Given the description of an element on the screen output the (x, y) to click on. 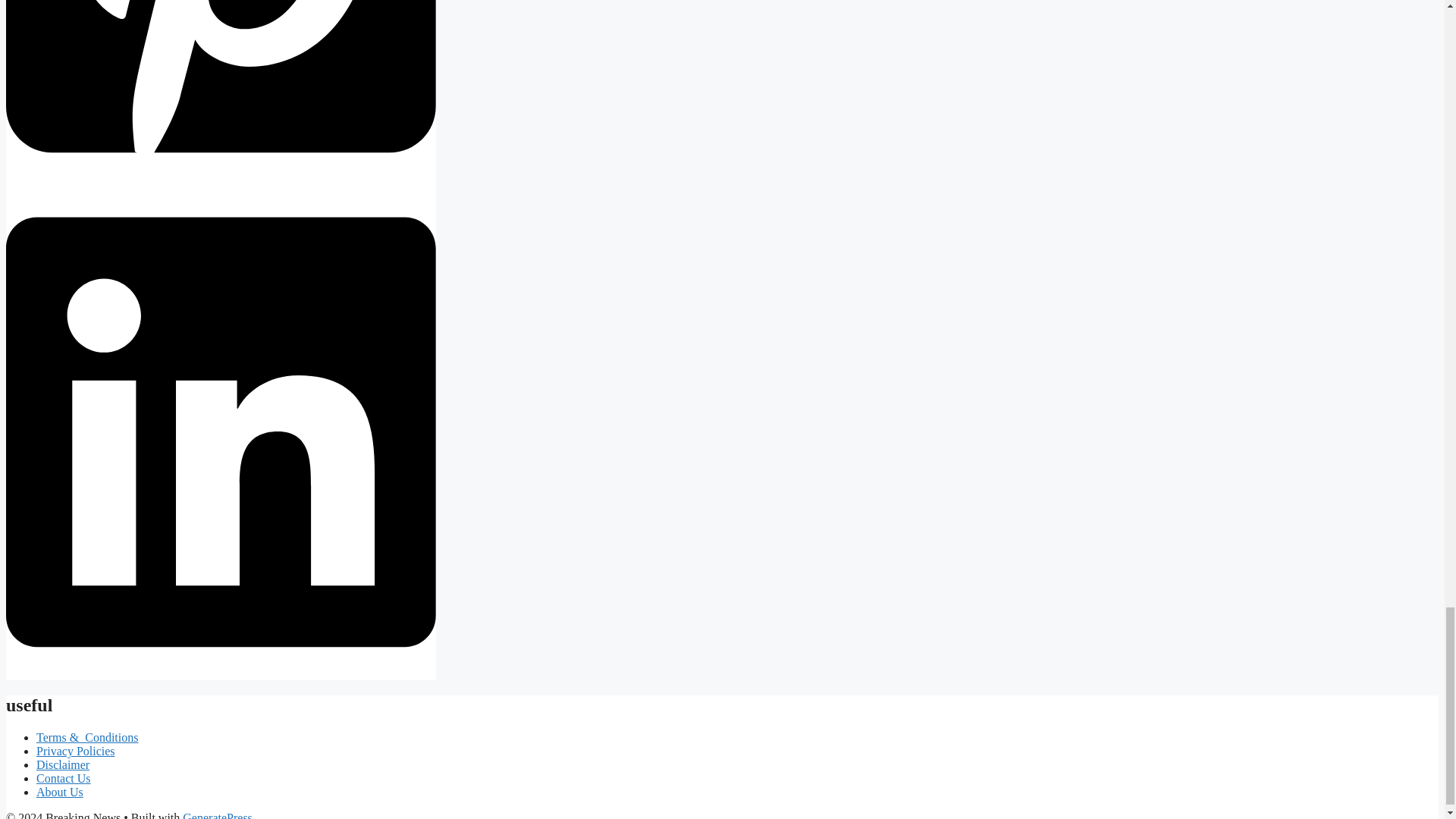
Privacy Policies (75, 750)
Disclaimer (62, 764)
Contact Us (63, 778)
About Us (59, 791)
